Given the description of an element on the screen output the (x, y) to click on. 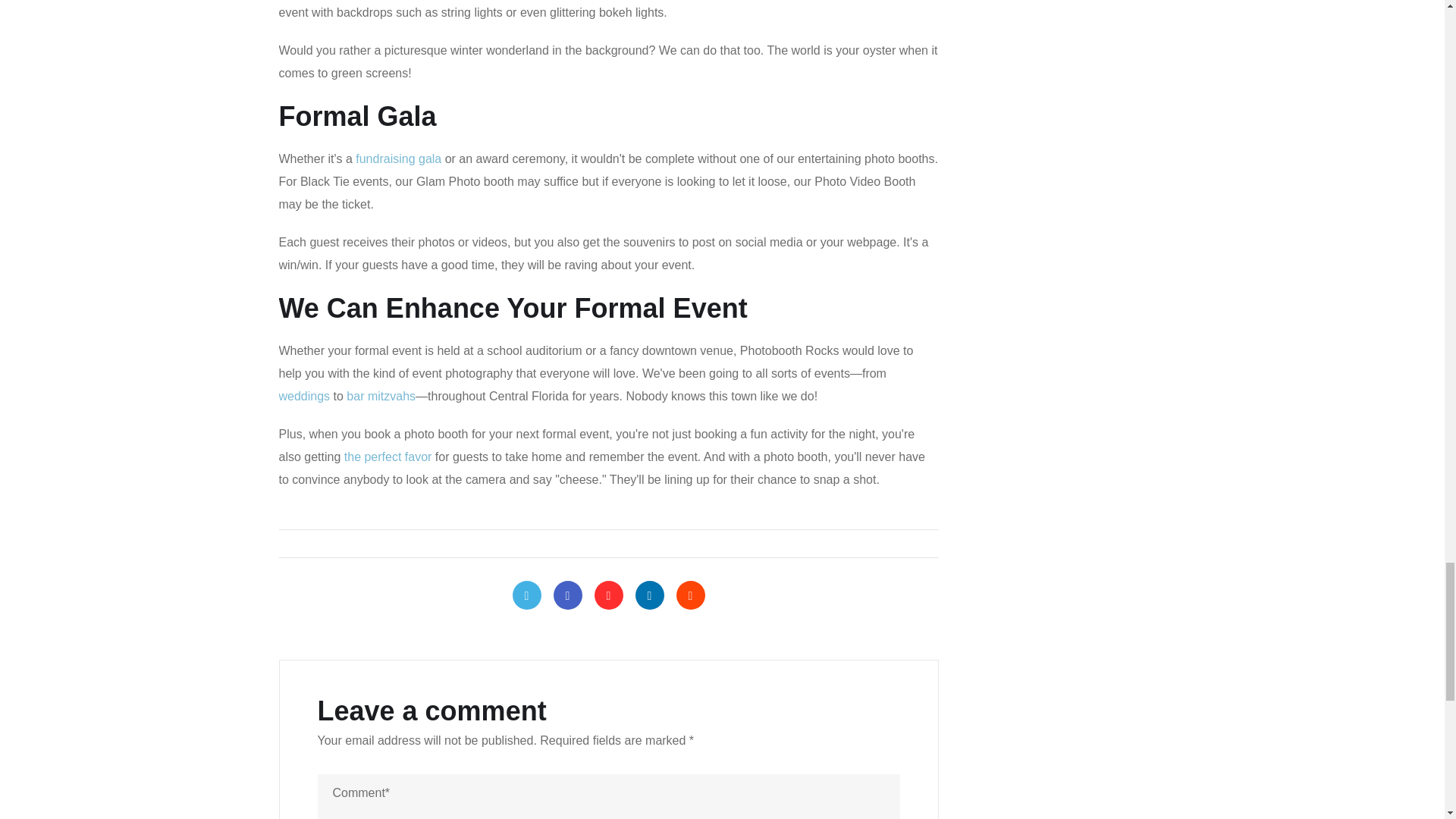
LinkedIn (648, 594)
Reddit (690, 594)
Twitter (526, 594)
Facebook (567, 594)
Pinterest (608, 594)
